Given the description of an element on the screen output the (x, y) to click on. 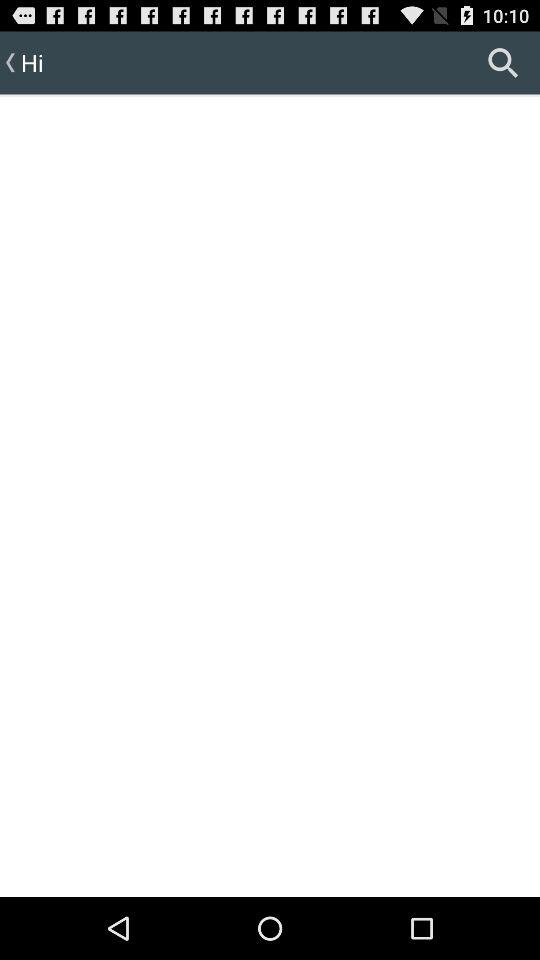
tap the item to the right of hi icon (503, 62)
